Given the description of an element on the screen output the (x, y) to click on. 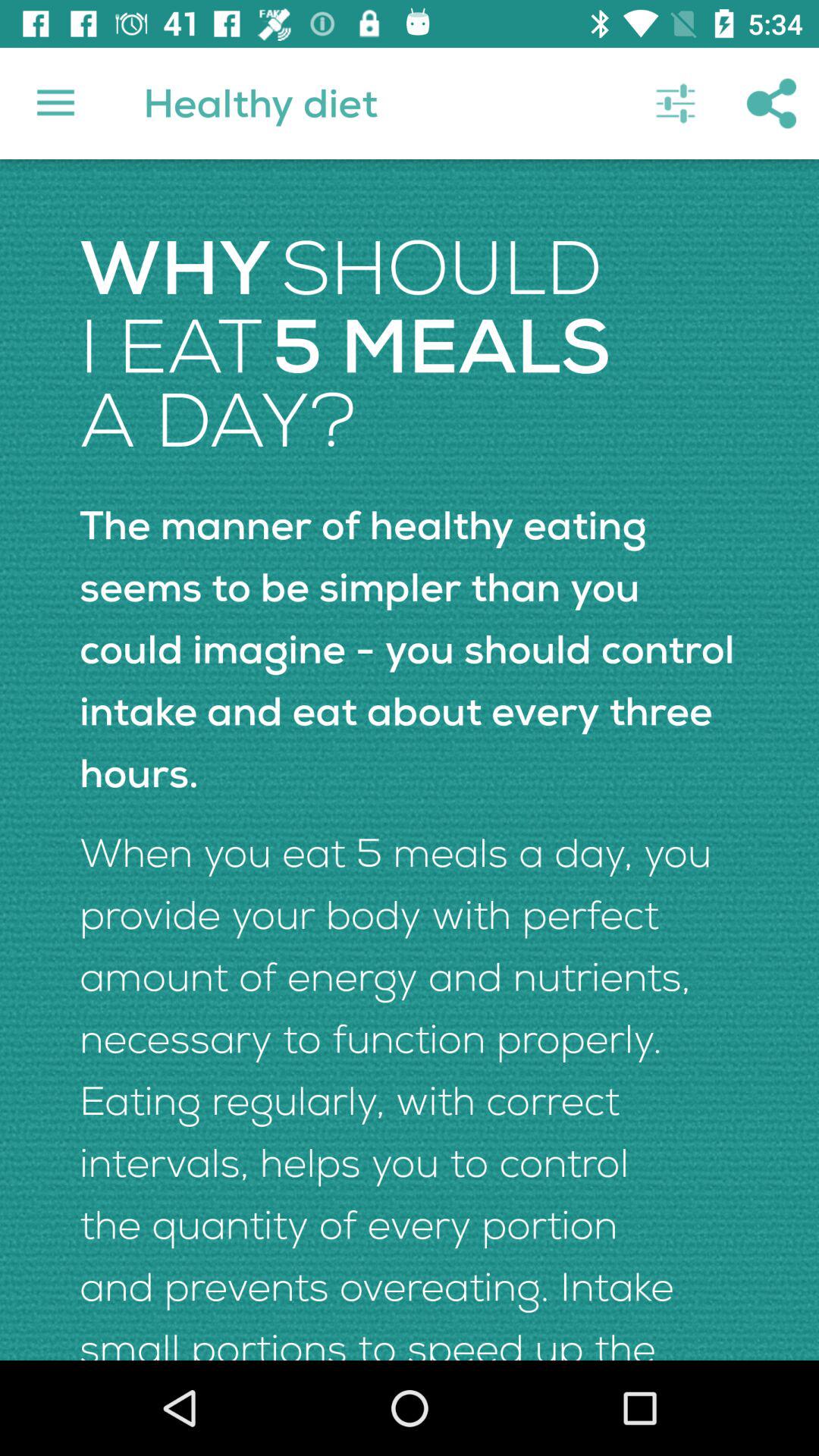
turn on the icon above the manner of (675, 103)
